Given the description of an element on the screen output the (x, y) to click on. 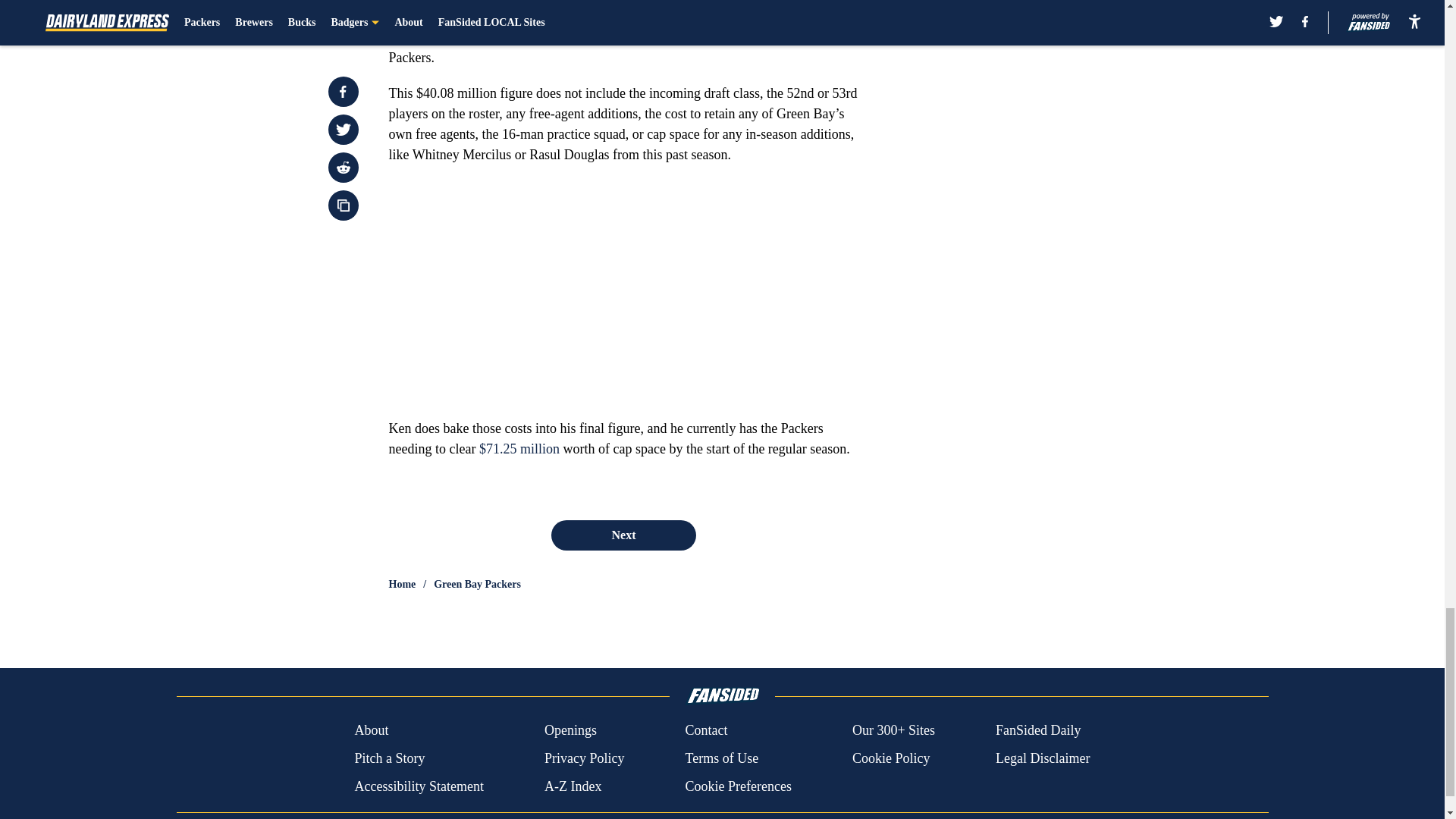
Next (622, 535)
Home (401, 584)
About (370, 730)
Over the Cap (528, 2)
FanSided Daily (1038, 730)
Green Bay Packers (477, 584)
Contact (705, 730)
Openings (570, 730)
